Given the description of an element on the screen output the (x, y) to click on. 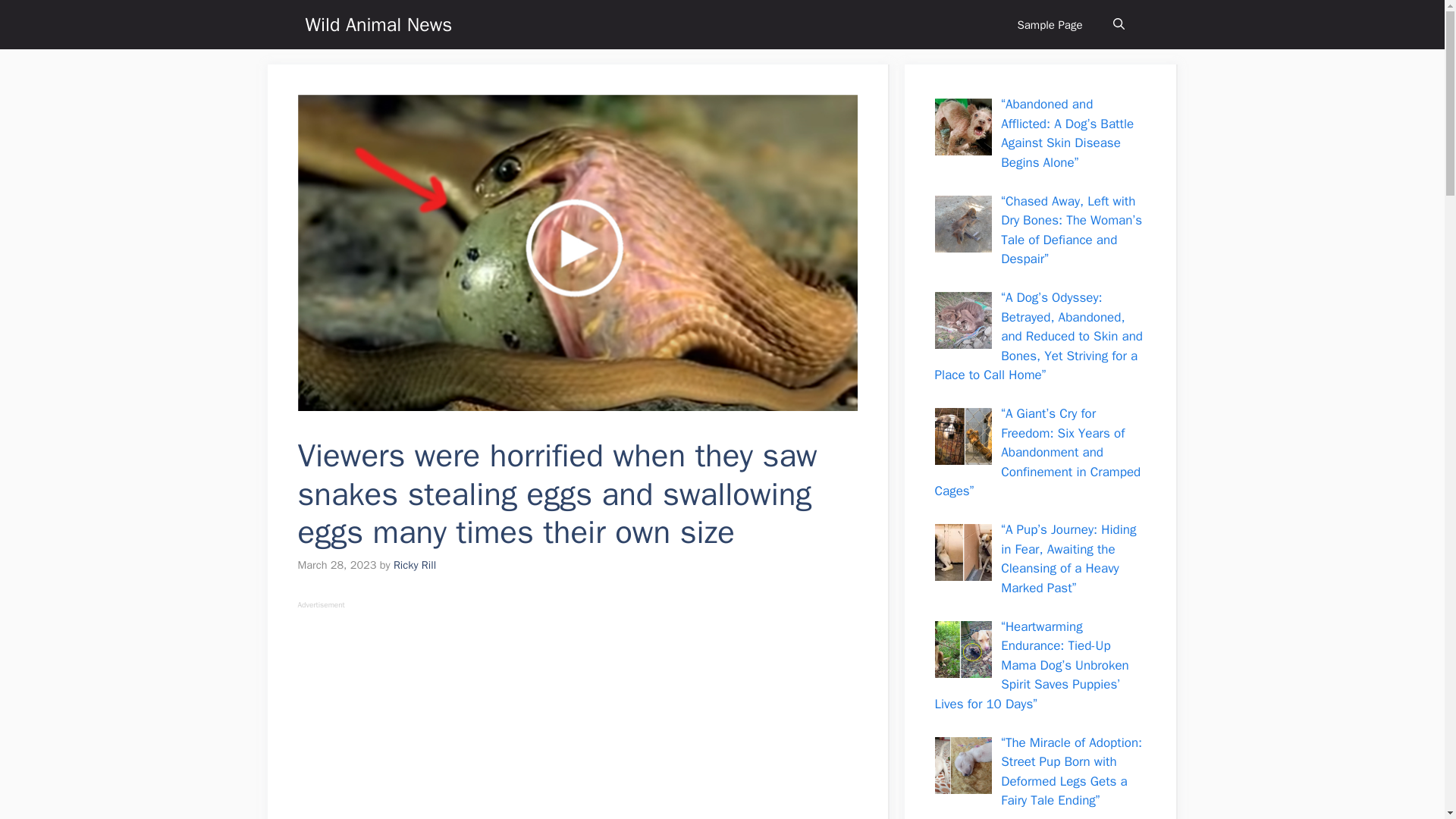
Wild Animal News (377, 24)
Ricky Rill (414, 564)
Sample Page (1050, 23)
View all posts by Ricky Rill (414, 564)
